Given the description of an element on the screen output the (x, y) to click on. 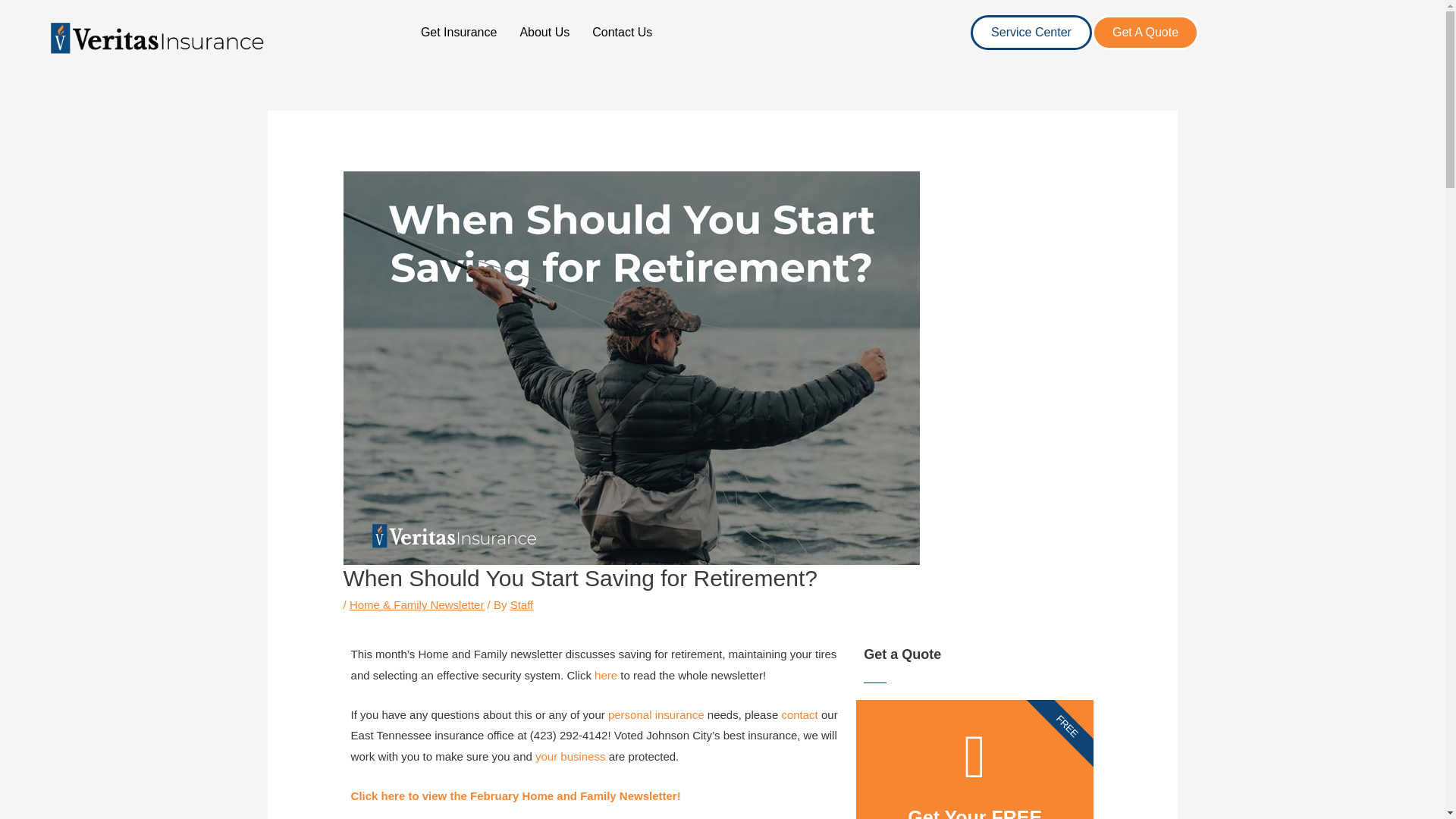
About Us (544, 32)
View all posts by Staff (522, 604)
Get Insurance (458, 32)
Contact Us (621, 32)
